Given the description of an element on the screen output the (x, y) to click on. 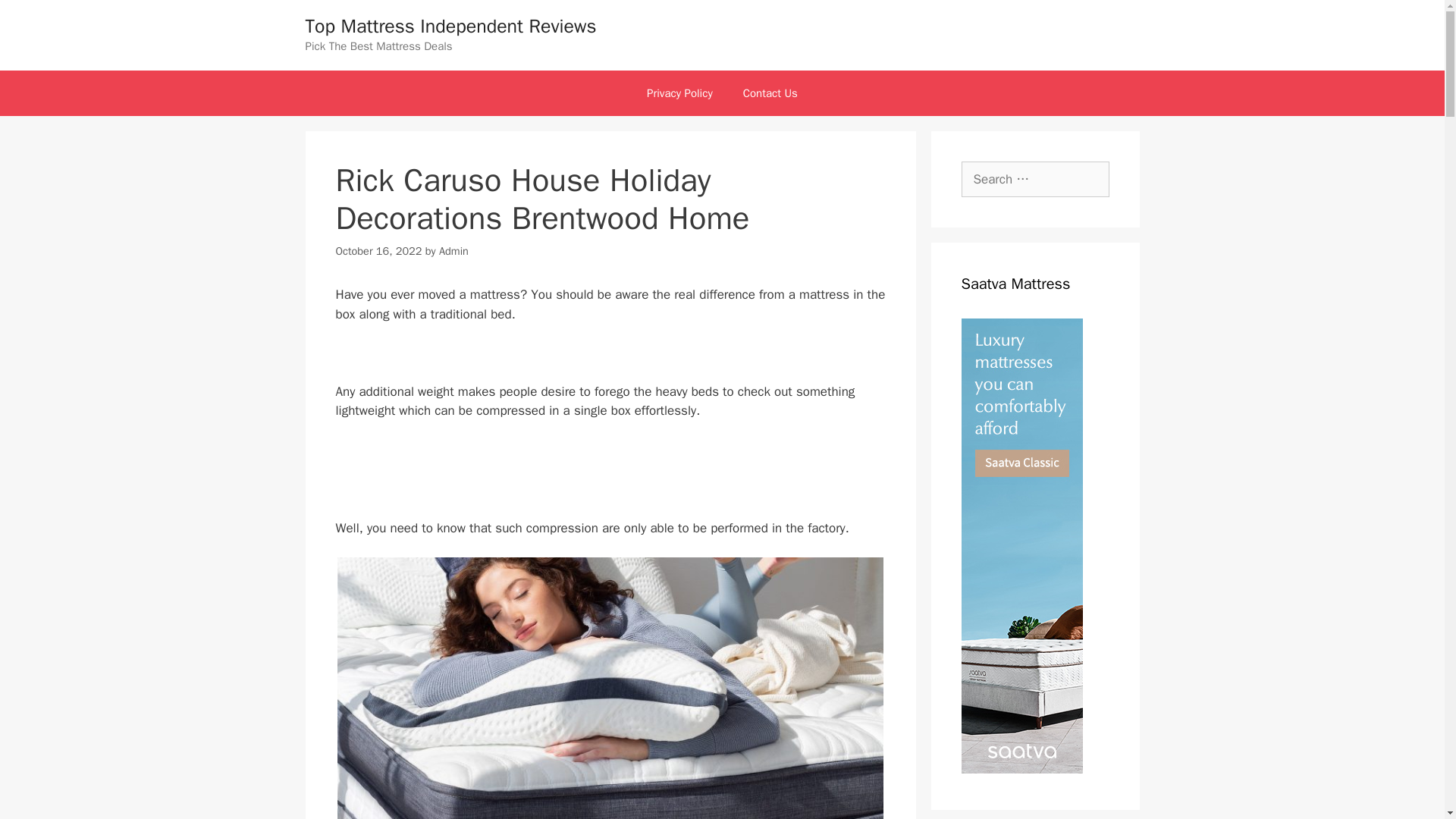
Privacy Policy (679, 92)
Search for: (1034, 178)
Top Mattress Independent Reviews (449, 25)
Search (35, 18)
Admin (453, 250)
View all posts by Admin (453, 250)
Contact Us (770, 92)
